Given the description of an element on the screen output the (x, y) to click on. 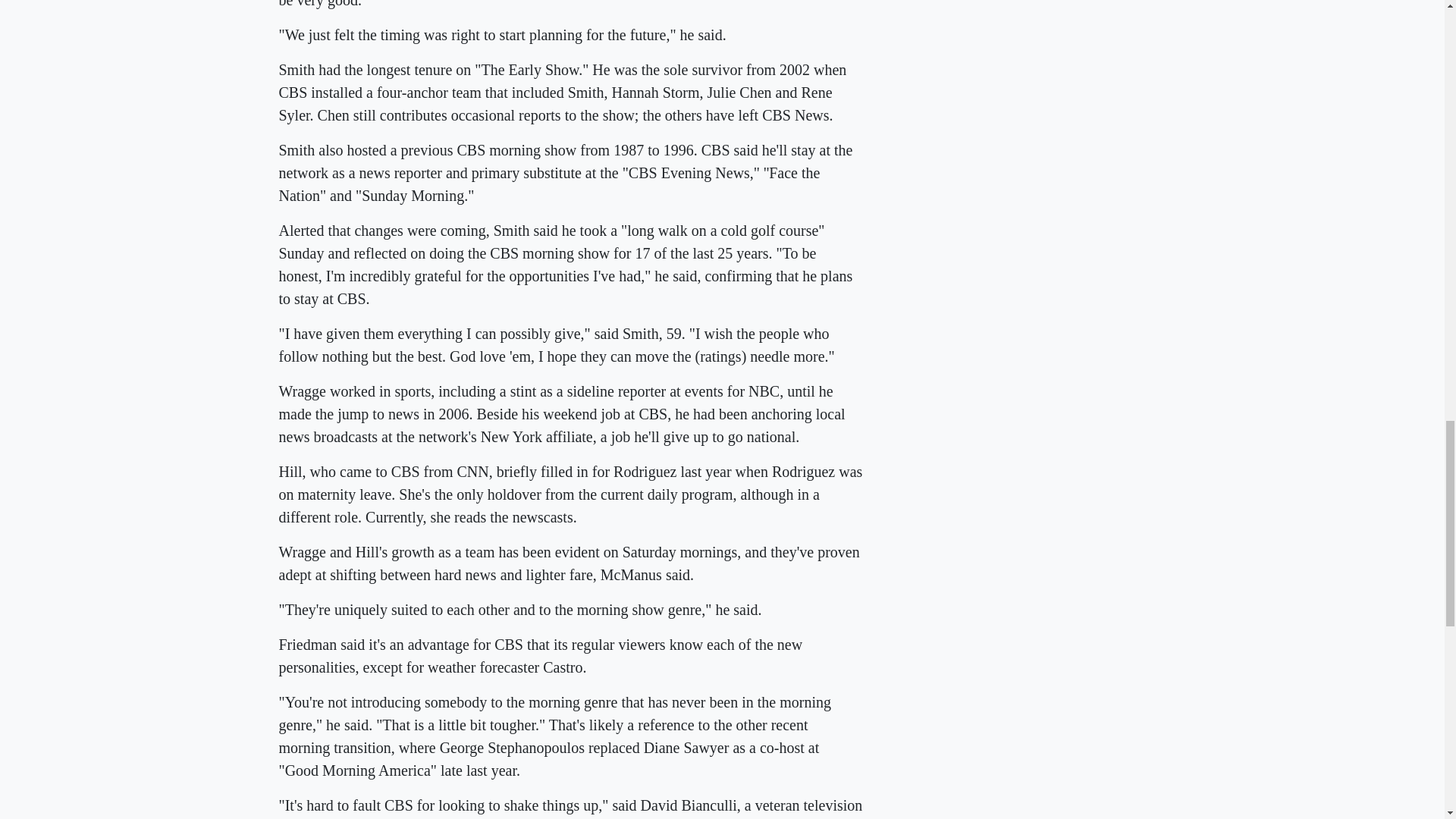
3rd party ad content (1052, 11)
